Given the description of an element on the screen output the (x, y) to click on. 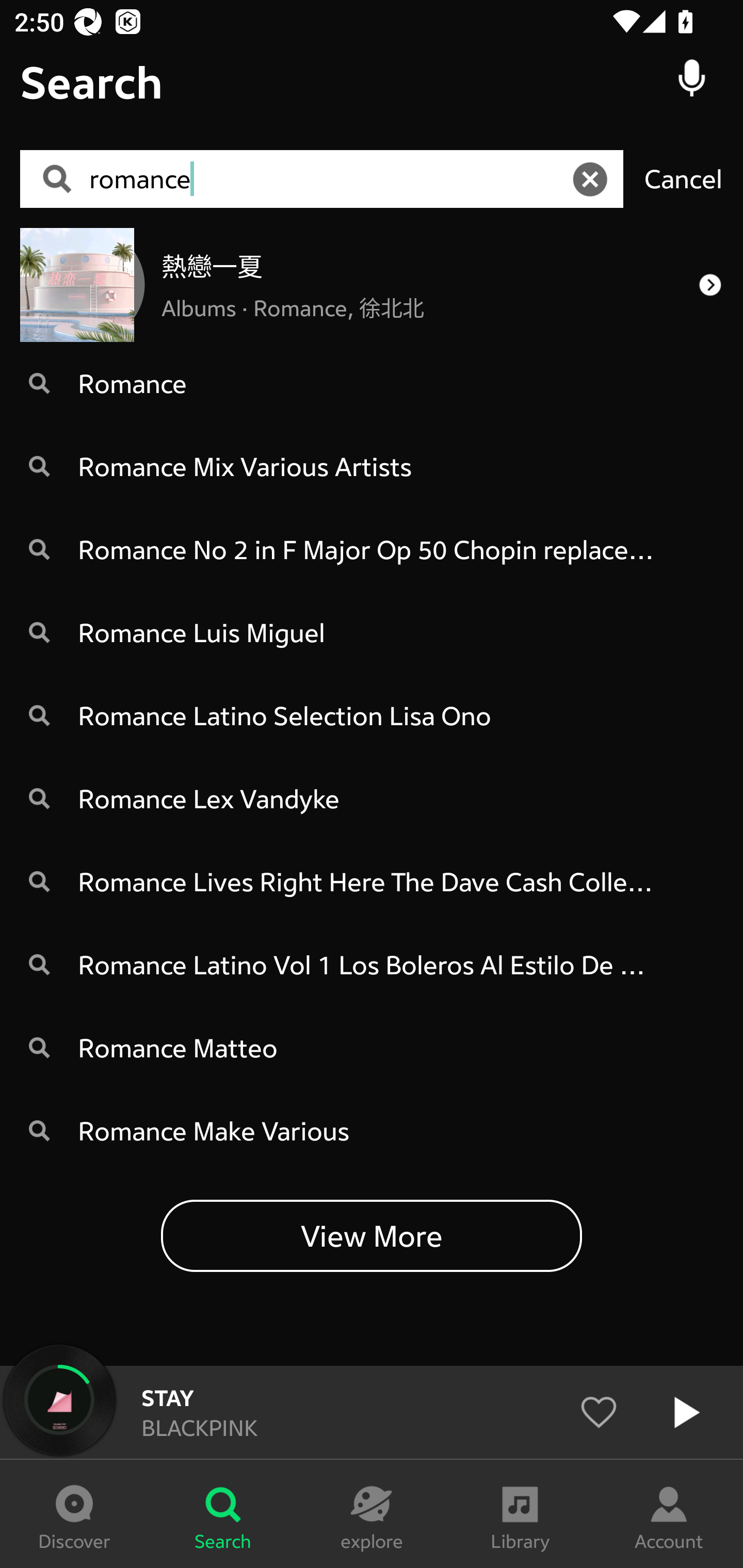
Cancel (683, 178)
romance (327, 179)
熱戀一夏 Albums · Romance, 徐北北 (371, 284)
Romance (371, 382)
Romance Mix Various Artists (371, 466)
Romance Luis Miguel (371, 632)
Romance Latino Selection Lisa Ono (371, 715)
Romance Lex Vandyke (371, 798)
Romance Matteo (371, 1047)
Romance Make Various (371, 1130)
View More (371, 1235)
STAY BLACKPINK (371, 1412)
Discover (74, 1513)
explore (371, 1513)
Library (519, 1513)
Account (668, 1513)
